Given the description of an element on the screen output the (x, y) to click on. 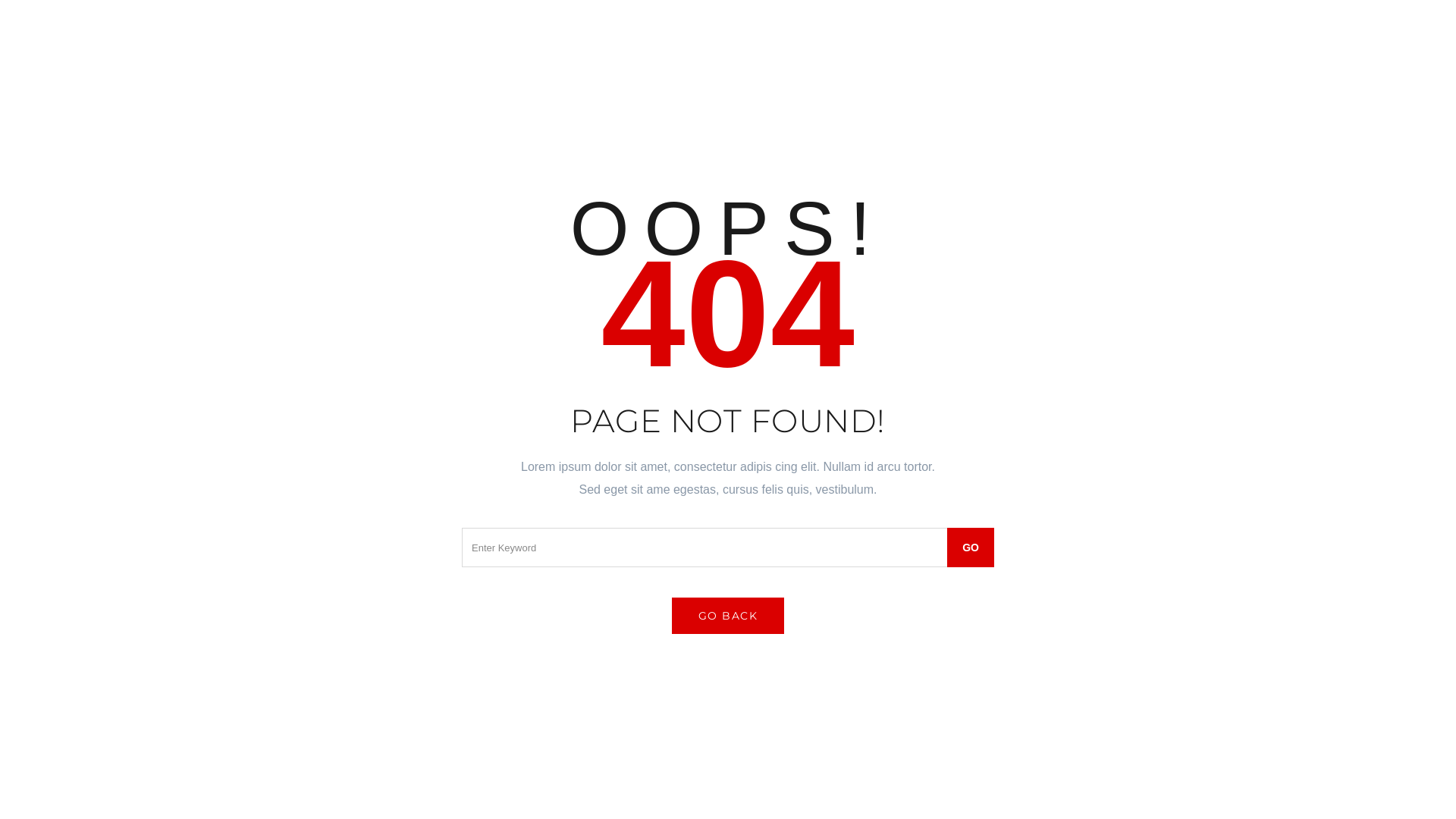
GO BACK Element type: text (727, 615)
Go Element type: text (970, 547)
